Given the description of an element on the screen output the (x, y) to click on. 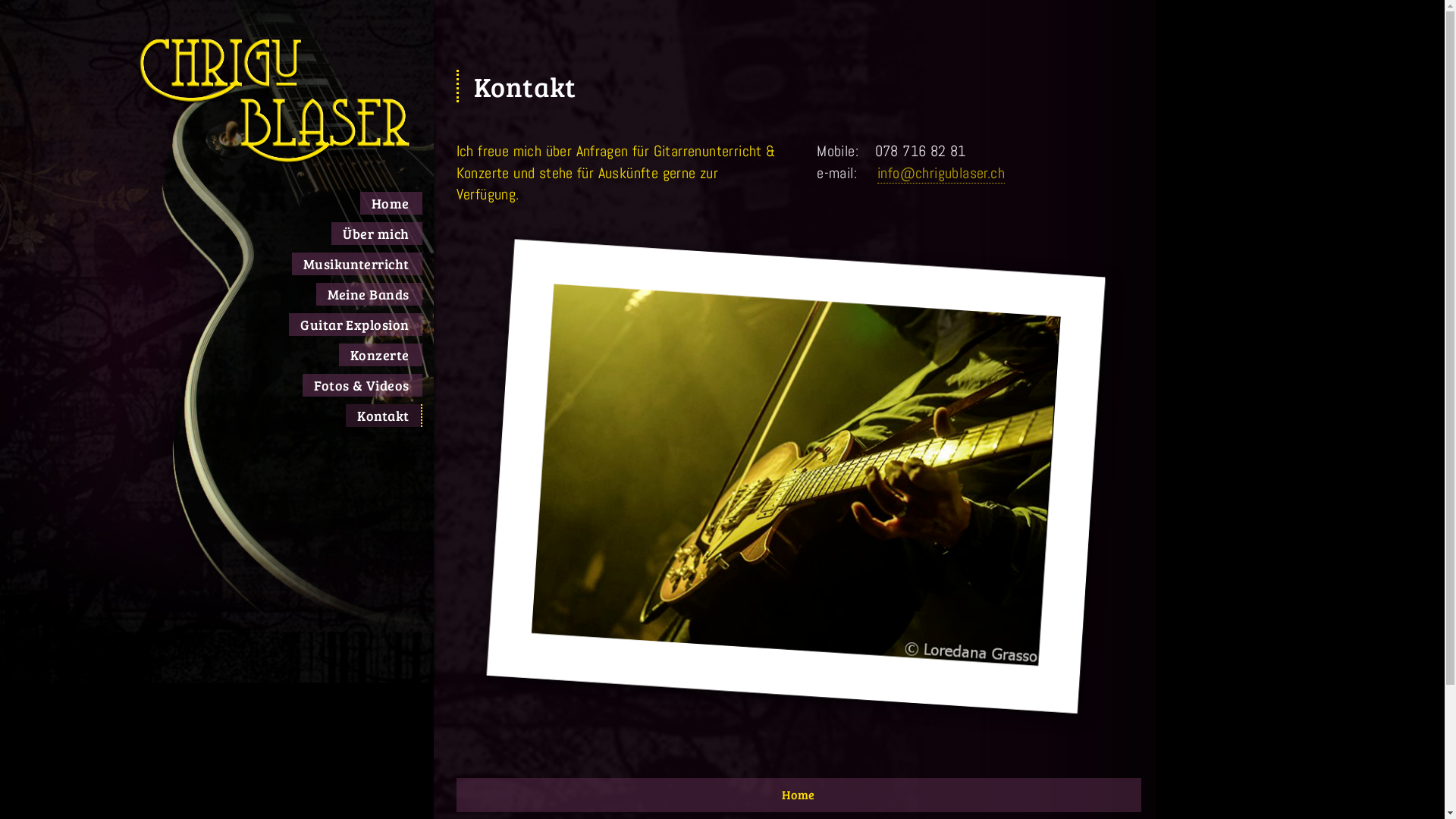
Guitar Explosion Element type: text (354, 324)
Home Element type: text (391, 202)
Musikunterricht Element type: text (356, 263)
Home Element type: text (798, 795)
Fotos & Videos Element type: text (361, 384)
Home Element type: text (792, 788)
info@chrigublaser.ch Element type: text (940, 173)
Kontakt Element type: text (383, 415)
Meine Bands Element type: text (369, 293)
Konzerte Element type: text (380, 354)
